Given the description of an element on the screen output the (x, y) to click on. 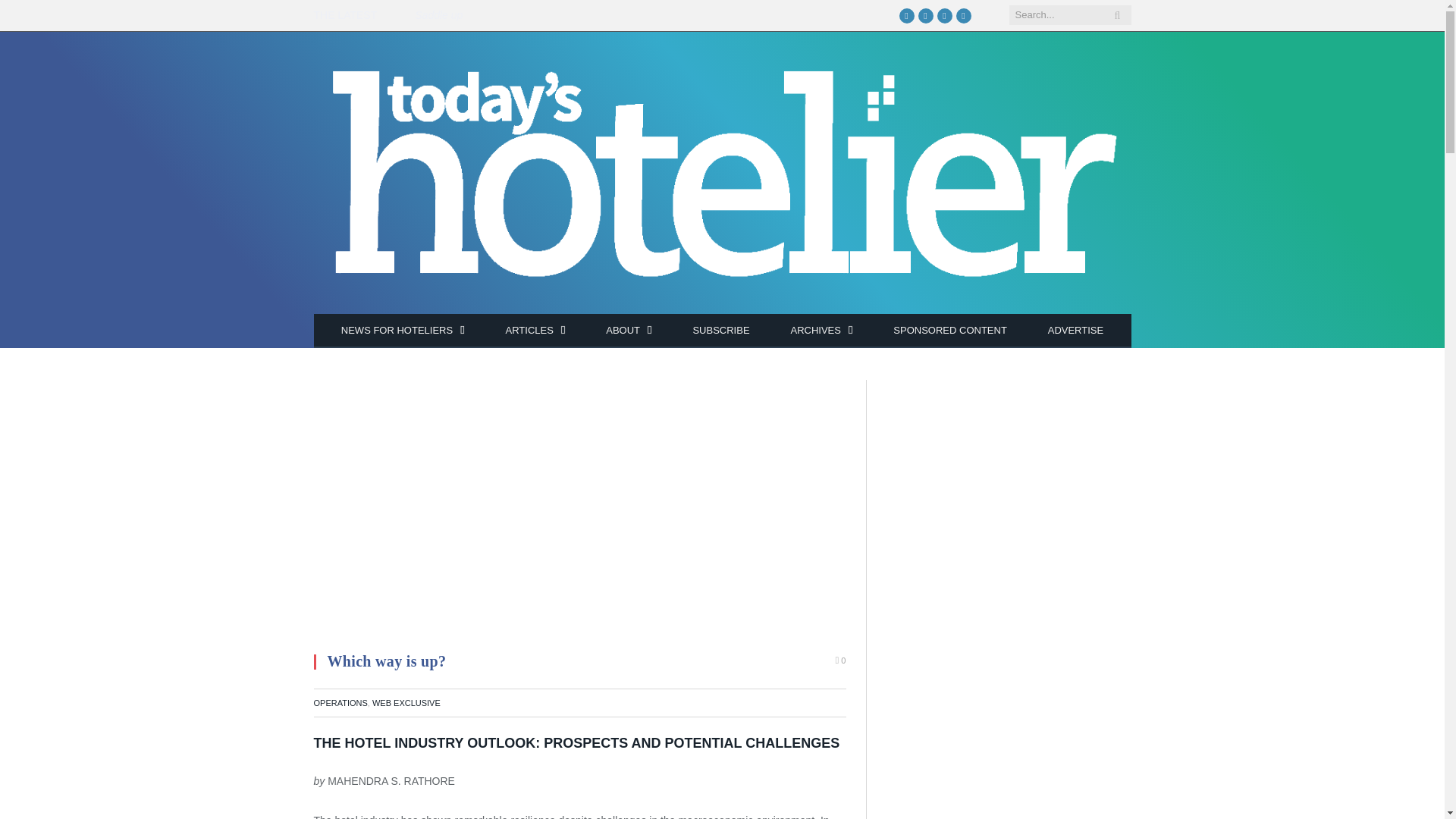
ARCHIVES (820, 330)
YouTube (944, 15)
SUBSCRIBE (720, 330)
Facebook (906, 15)
Saddle up (442, 15)
ARTICLES (535, 330)
YouTube (944, 15)
Facebook (906, 15)
Twitter (925, 15)
Twitter (925, 15)
ABOUT (627, 330)
NEWS FOR HOTELIERS (402, 330)
LinkedIn (963, 15)
Today's Hotelier magazine (722, 175)
